Given the description of an element on the screen output the (x, y) to click on. 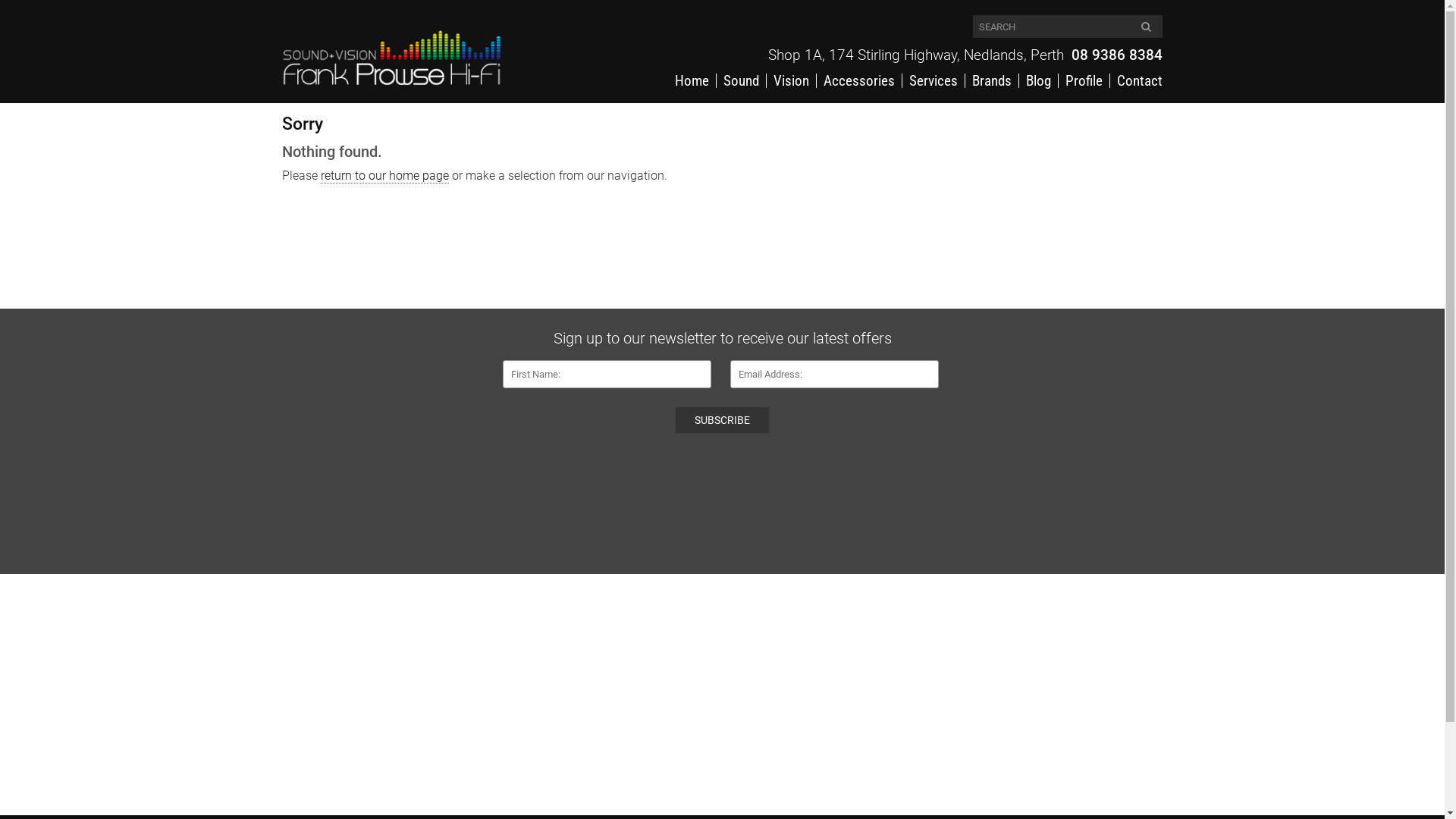
Subscribe Element type: text (721, 420)
Home Element type: text (691, 80)
Sound Element type: text (740, 80)
Search for: Element type: hover (1067, 26)
Blog Element type: text (1037, 80)
Profile Element type: text (1083, 80)
Services Element type: text (932, 80)
return to our home page Element type: text (384, 175)
Accessories Element type: text (858, 80)
Vision Element type: text (790, 80)
Contact Element type: text (1135, 80)
Brands Element type: text (991, 80)
